Given the description of an element on the screen output the (x, y) to click on. 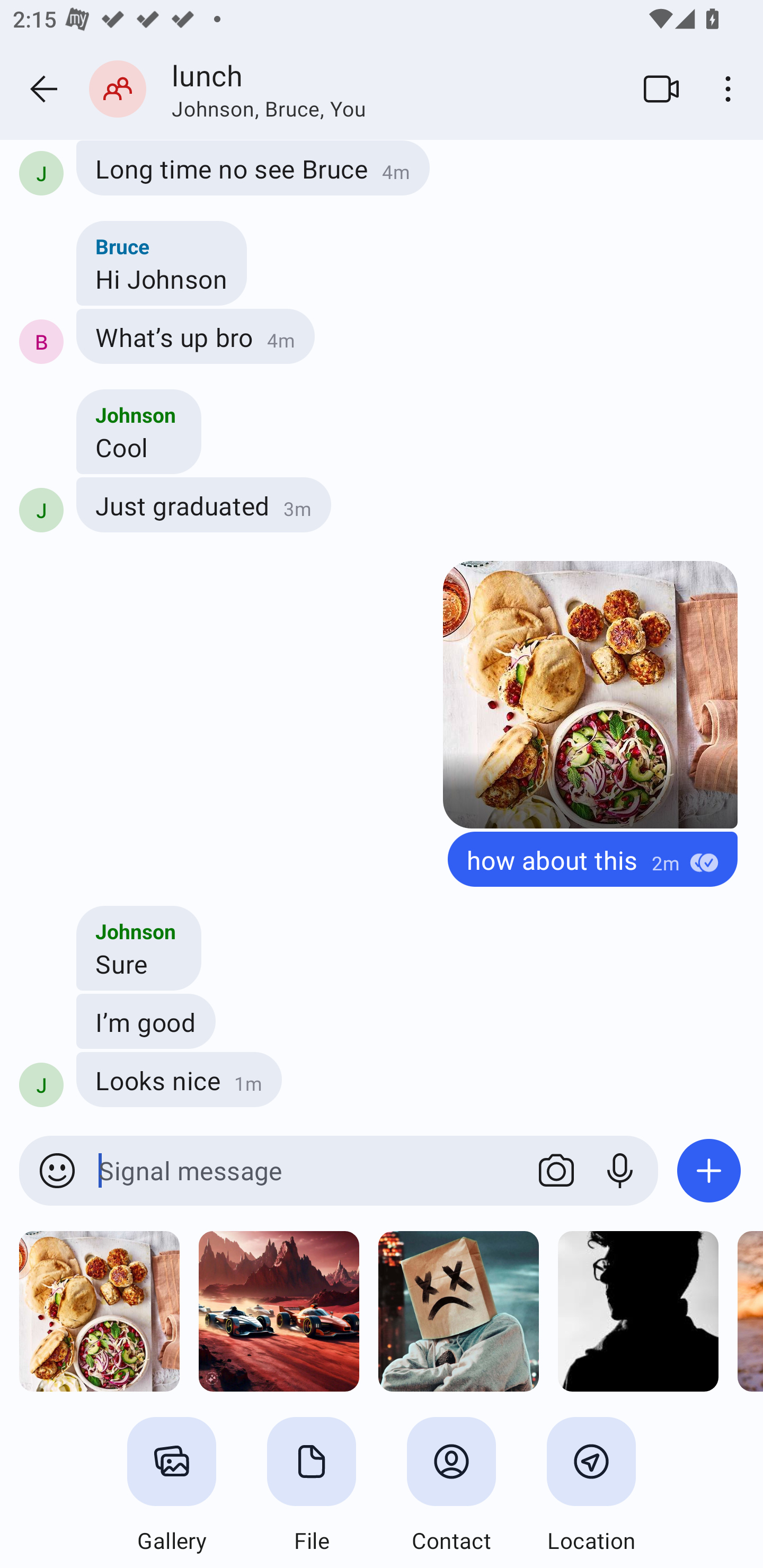
Location (591, 1486)
